Given the description of an element on the screen output the (x, y) to click on. 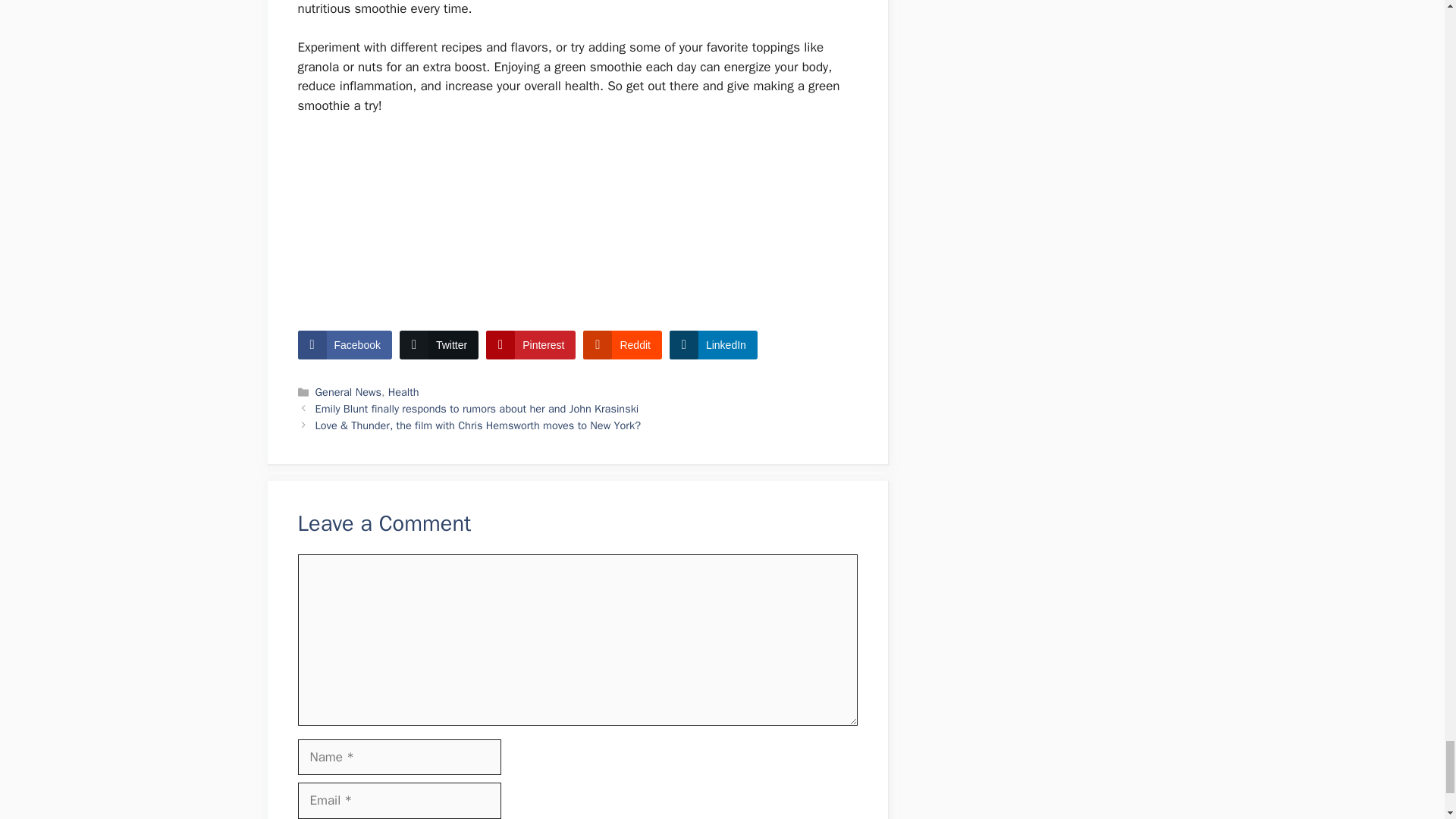
Health (403, 391)
Pinterest (530, 344)
Reddit (622, 344)
General News (348, 391)
Facebook (344, 344)
LinkedIn (713, 344)
Twitter (438, 344)
